Given the description of an element on the screen output the (x, y) to click on. 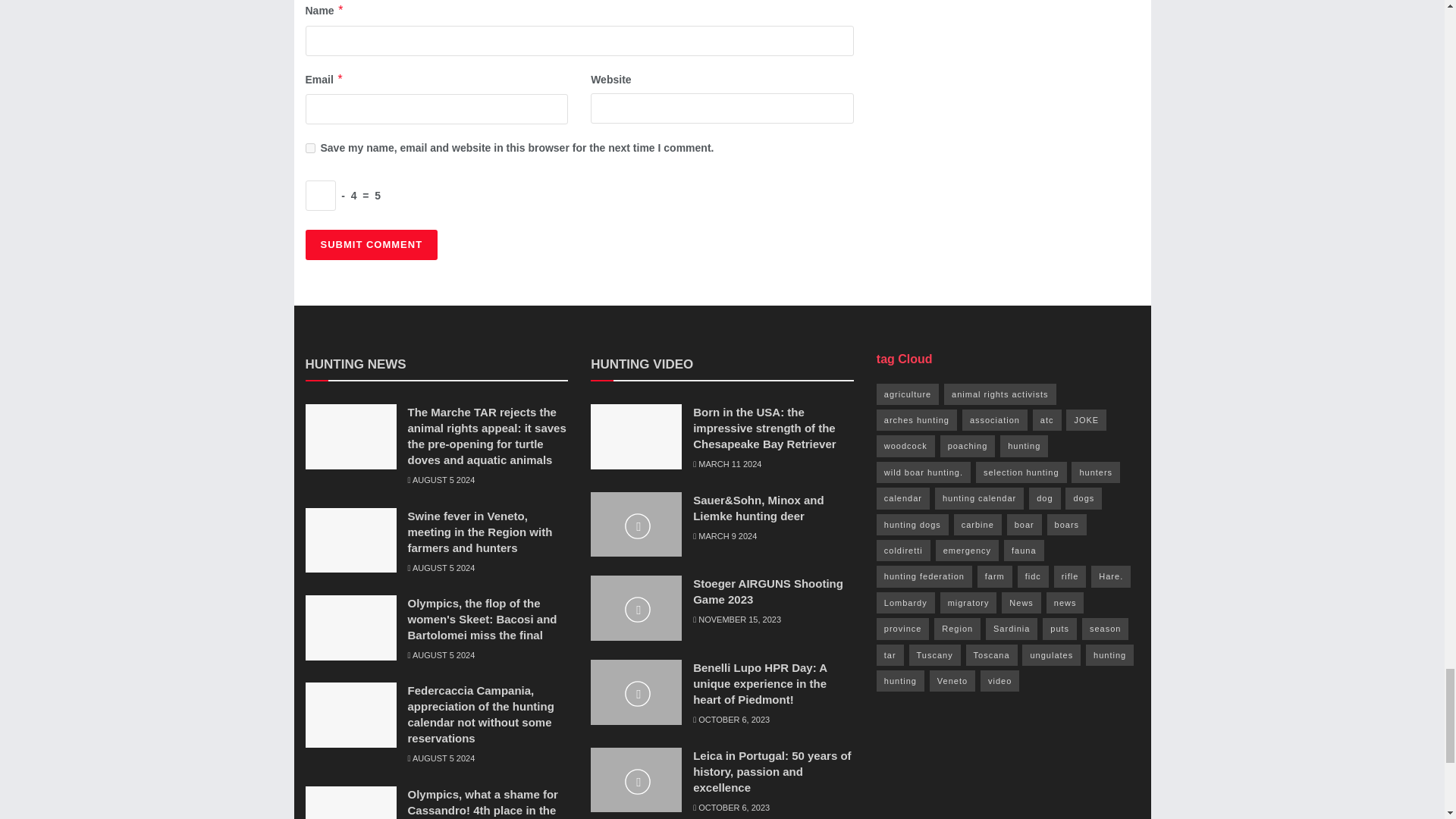
Submit comment (371, 245)
yes (309, 148)
